Given the description of an element on the screen output the (x, y) to click on. 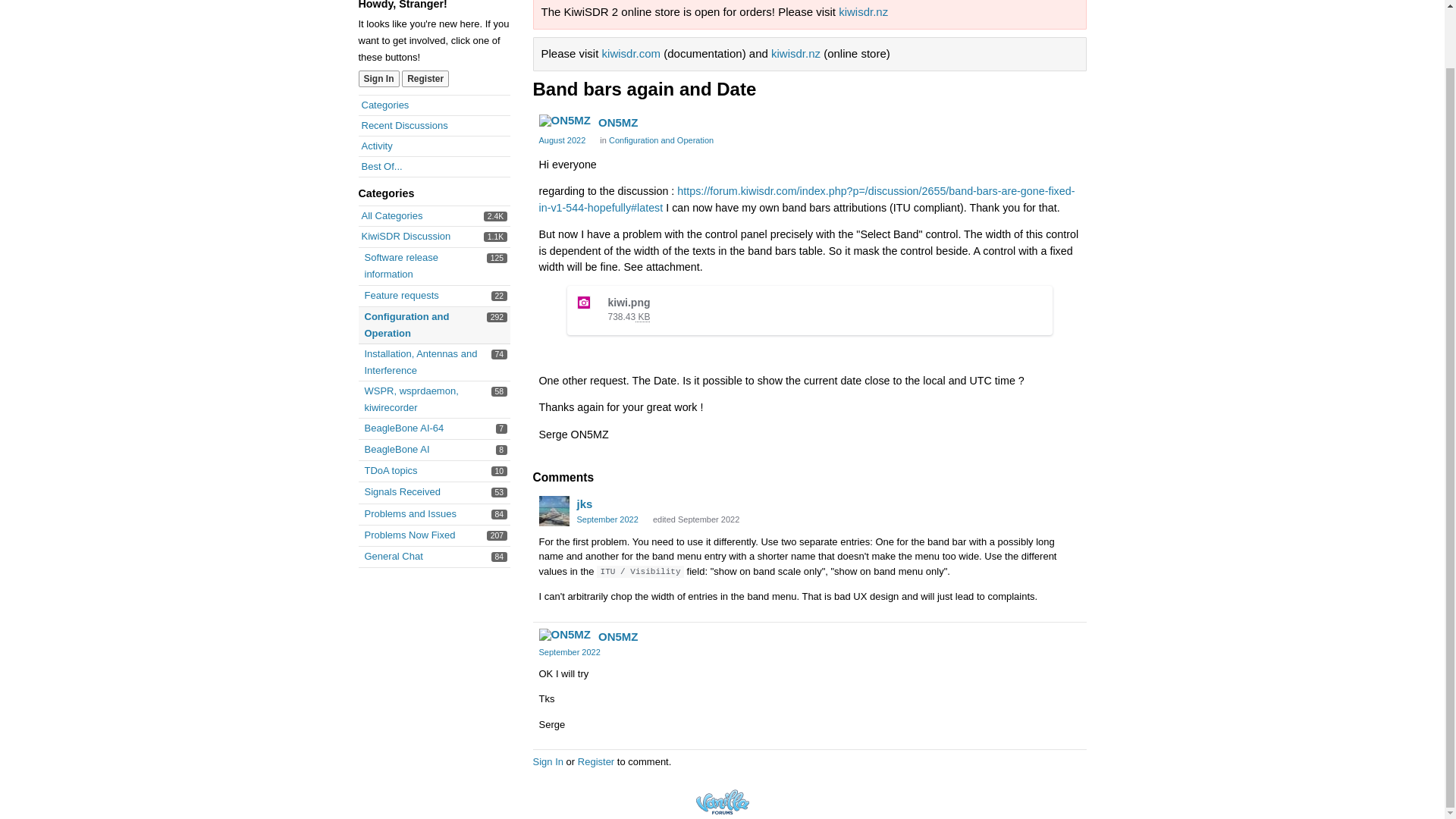
58 discussions (499, 391)
ON5MZ (564, 120)
84 discussions (499, 556)
1,121 discussions (393, 555)
Sign In (404, 428)
Kilobyte (495, 236)
jks (378, 78)
22 discussions (641, 317)
